Given the description of an element on the screen output the (x, y) to click on. 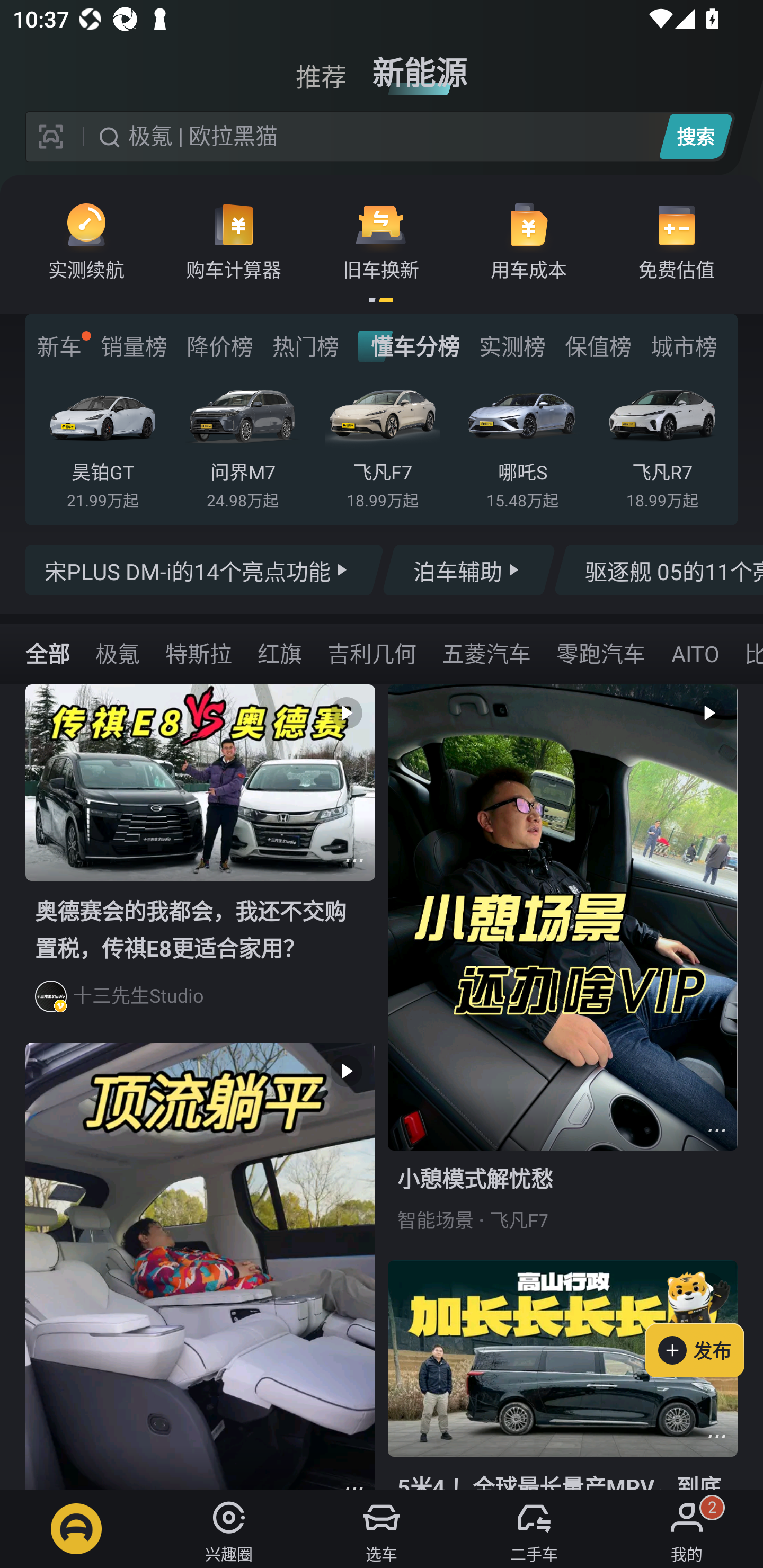
推荐 (321, 65)
新能源 (419, 65)
搜索 (695, 136)
实测续航 (86, 240)
购车计算器 (233, 240)
旧车换新 (380, 240)
用车成本 (528, 240)
免费估值 (676, 240)
新车 (59, 346)
销量榜 (133, 346)
降价榜 (219, 346)
热门榜 (305, 346)
懂车分榜 (408, 346)
实测榜 (512, 346)
保值榜 (597, 346)
城市榜 (683, 346)
昊铂GT 21.99万起 (102, 442)
问界M7 24.98万起 (242, 442)
飞凡F7 18.99万起 (382, 442)
哪吒S 15.48万起 (522, 442)
飞凡R7 18.99万起 (662, 442)
宋PLUS DM-i的14个亮点功能 (204, 569)
泊车辅助 (468, 569)
驱逐舰 05的11个亮点功能 (658, 569)
全部 (47, 652)
极氪 (117, 652)
特斯拉 (198, 652)
红旗 (279, 652)
吉利几何 (371, 652)
五菱汽车 (485, 652)
零跑汽车 (600, 652)
AITO (694, 652)
  奥德赛会的我都会，我还不交购置税，传祺E8更适合家用？ 十三先生Studio (200, 862)
  小憩模式解忧愁 智能场景 飞凡F7 (562, 971)
 (354, 860)
  (200, 1265)
 (716, 1130)
飞凡F7 (518, 1220)
  5米4 ！全球最长量产MPV，到底好不好开？ (562, 1374)
发布 (704, 1320)
 (716, 1436)
 兴趣圈 (228, 1528)
 选车 (381, 1528)
 二手车 (533, 1528)
 我的 (686, 1528)
